Given the description of an element on the screen output the (x, y) to click on. 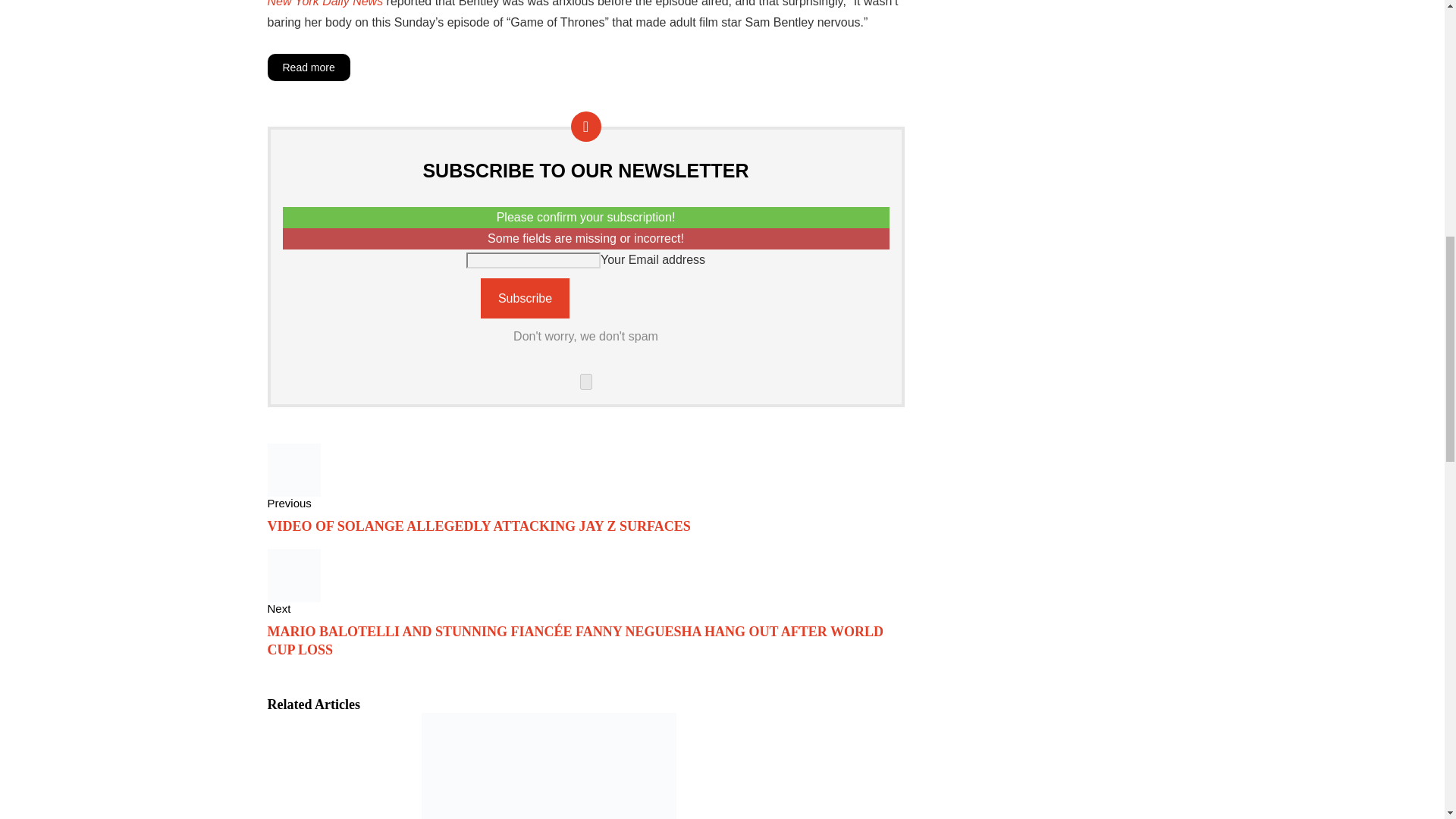
New York Daily News (324, 3)
Subscribe (525, 298)
VIDEO OF SOLANGE ALLEGEDLY ATTACKING JAY Z SURFACES (478, 525)
Subscribe (525, 298)
